Given the description of an element on the screen output the (x, y) to click on. 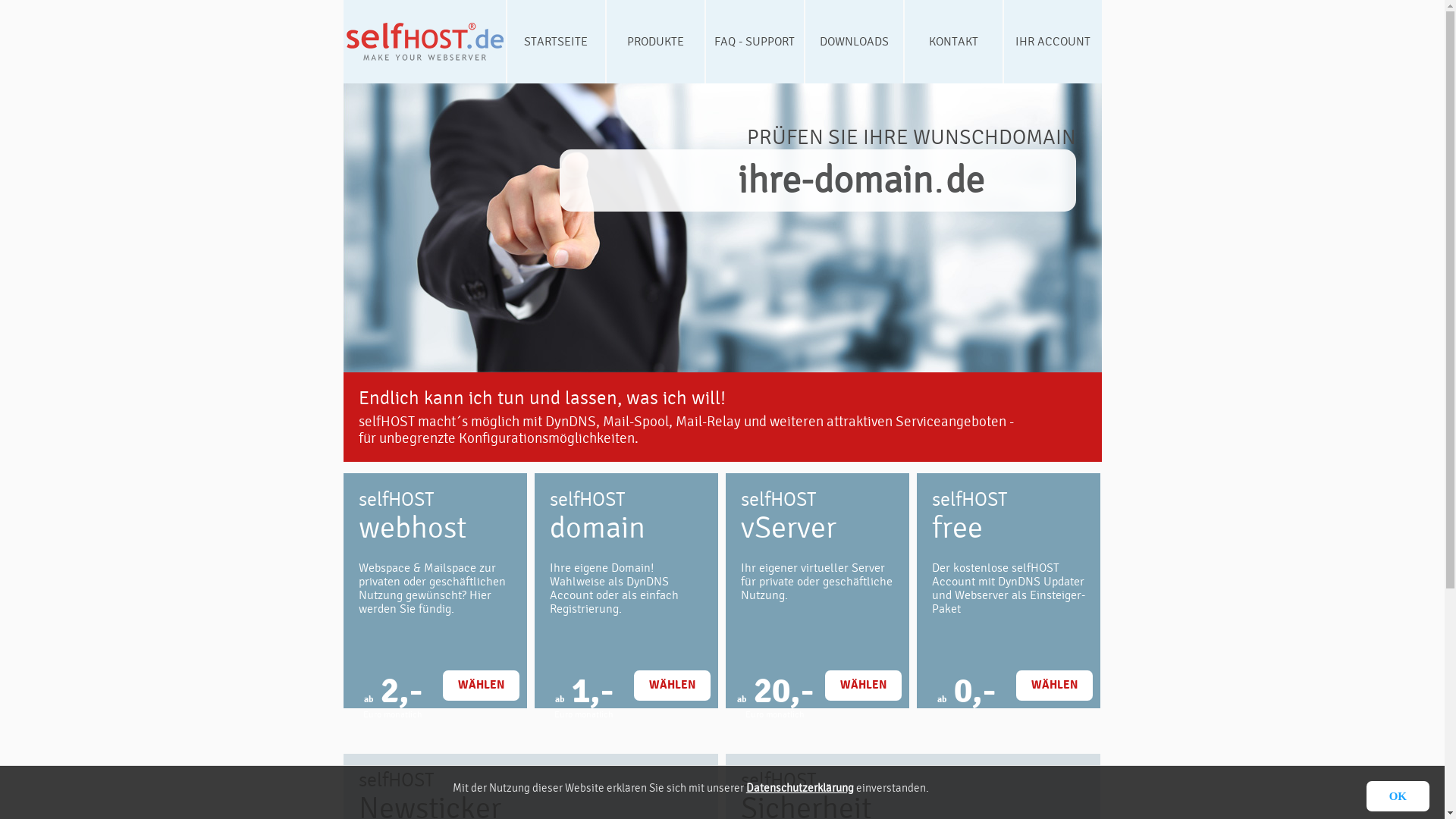
PRODUKTE Element type: text (655, 41)
DOWNLOADS Element type: text (854, 41)
IHR ACCOUNT Element type: text (1052, 41)
KONTAKT Element type: text (952, 41)
OK Element type: text (1397, 796)
FAQ - SUPPORT Element type: text (754, 41)
STARTSEITE Element type: text (555, 41)
